Given the description of an element on the screen output the (x, y) to click on. 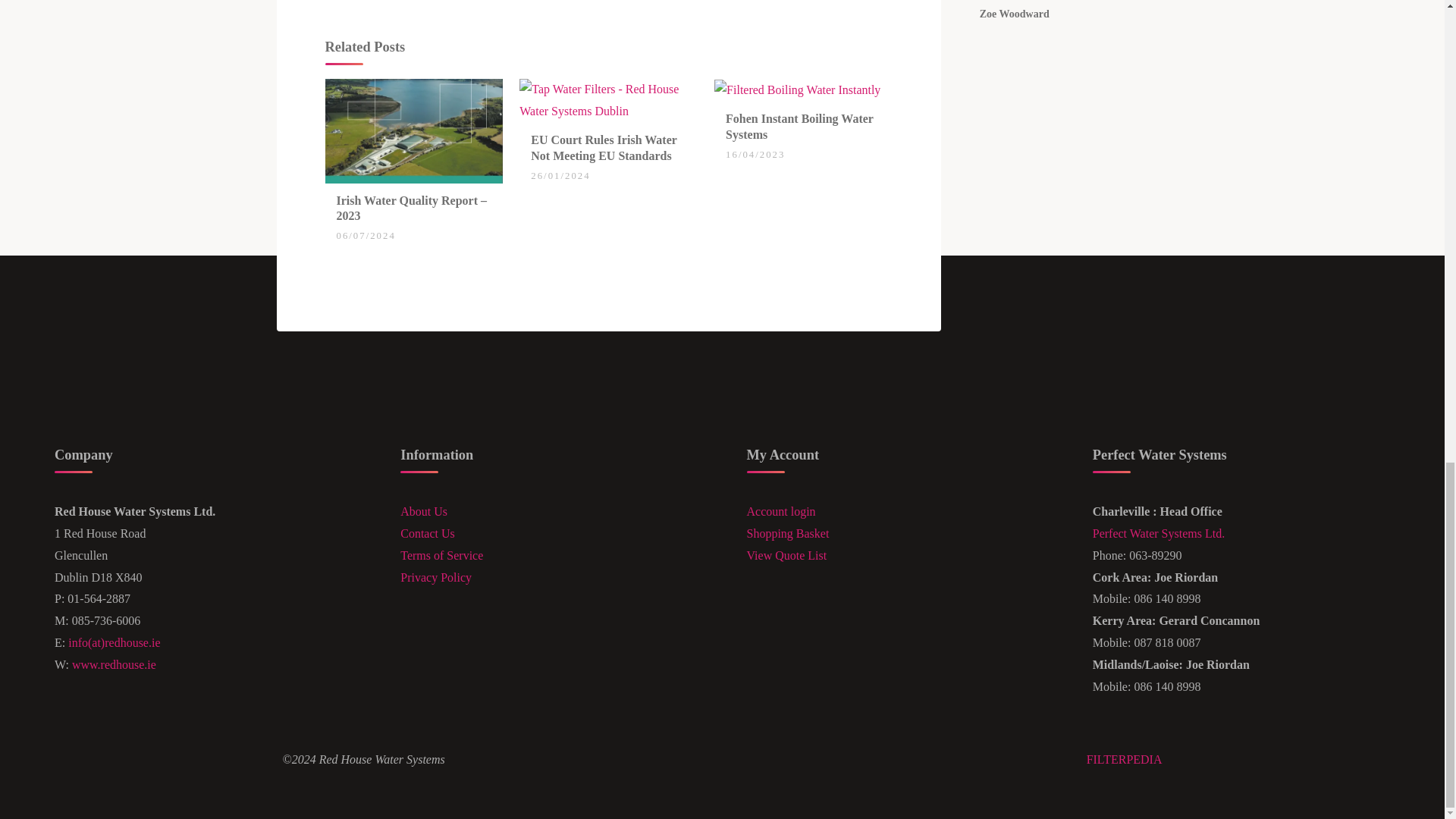
EU Court Rules Irish Water Not Meeting EU Standards (604, 147)
Fohen Instant Boiling Water Systems (799, 126)
Fohen Instant Boiling Water Systems (797, 88)
EU Court Rules Irish Water Not Meeting EU Standards (608, 99)
